Given the description of an element on the screen output the (x, y) to click on. 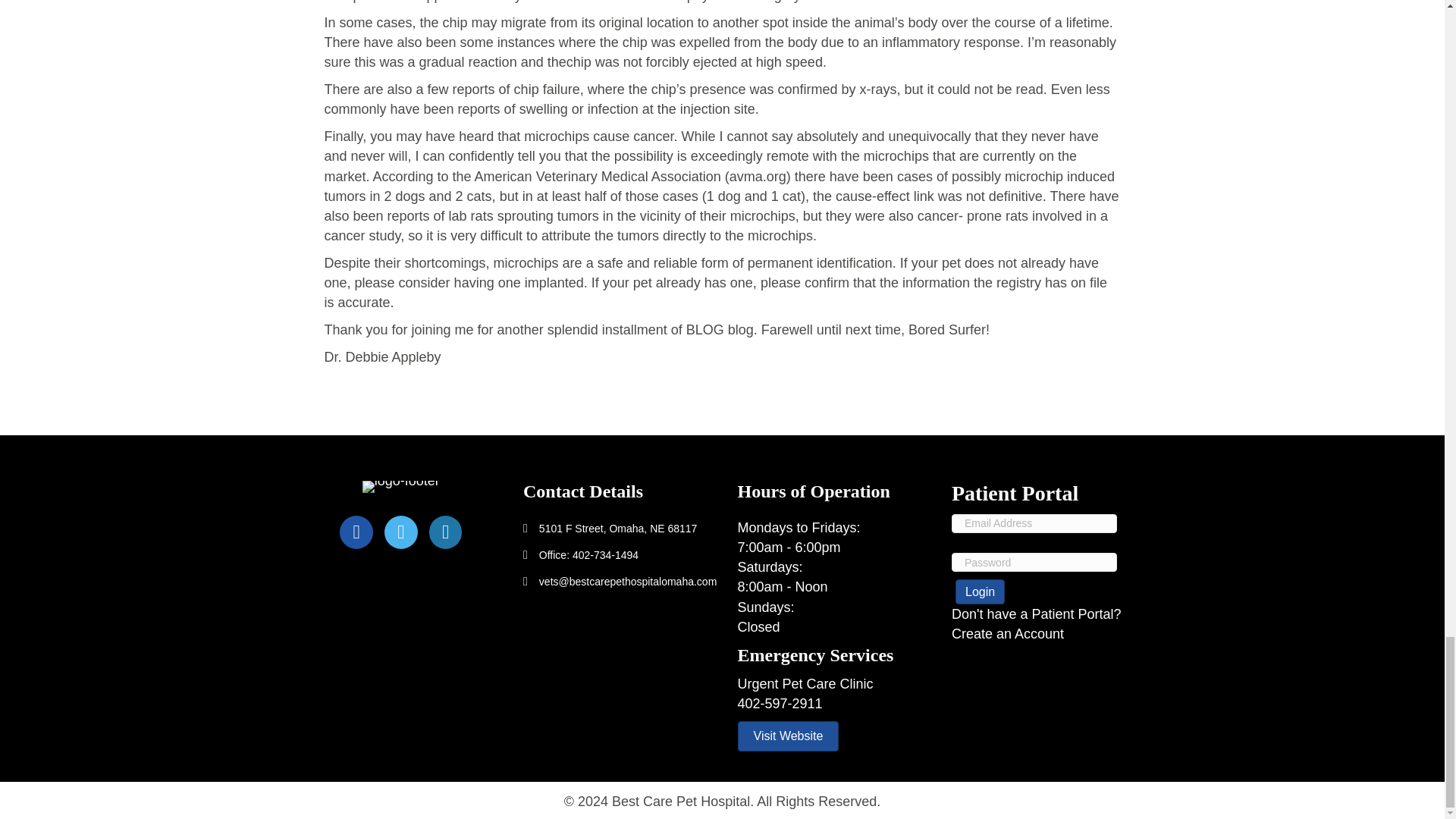
5101 F Street, Omaha, NE 68117 (617, 528)
402-597-2911 (779, 703)
Login (979, 591)
Office: 402-734-1494 (588, 554)
logo-footer (400, 486)
